Given the description of an element on the screen output the (x, y) to click on. 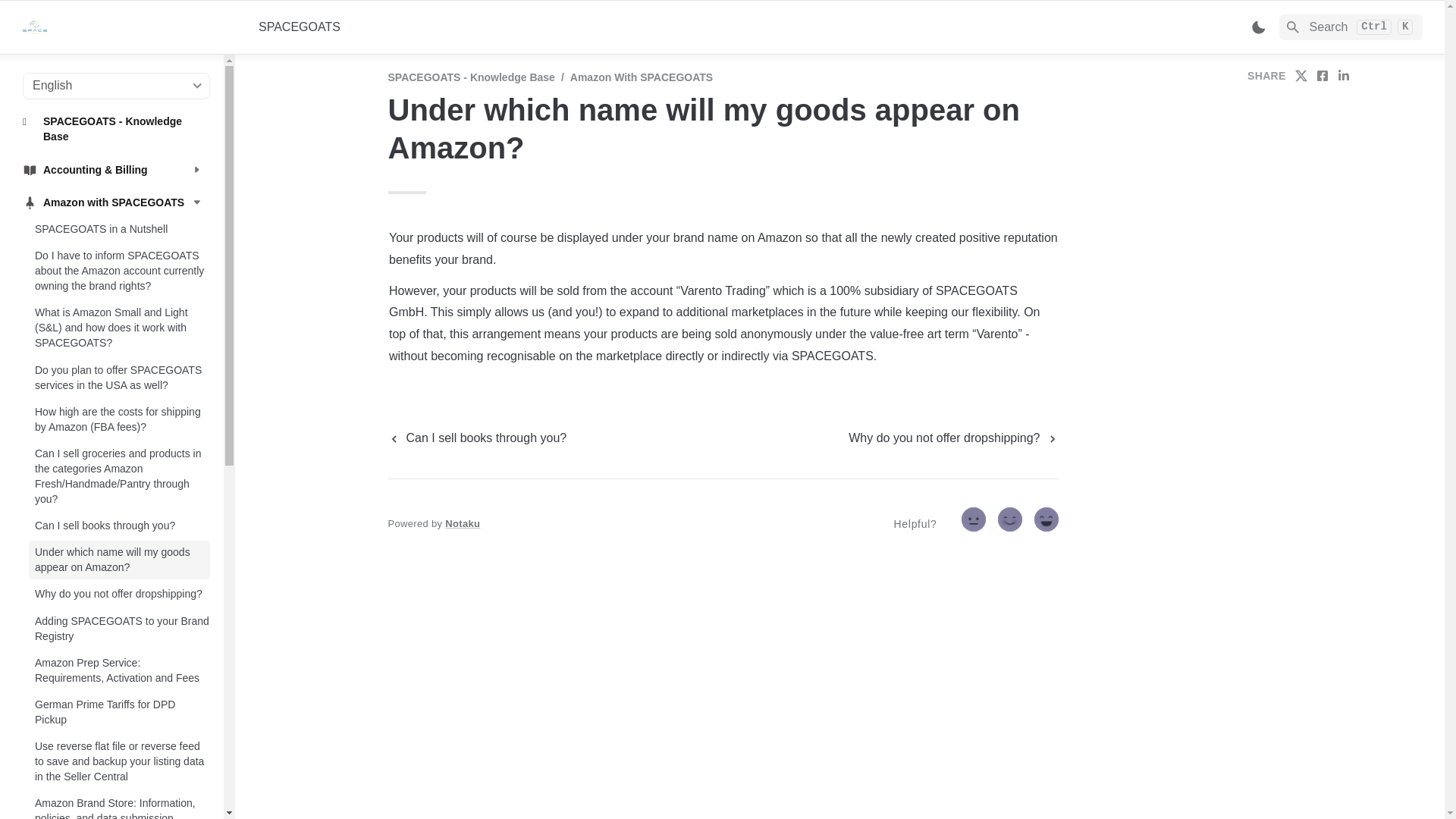
Do you plan to offer SPACEGOATS services in the USA as well? (119, 376)
Amazon with SPACEGOATS (112, 201)
Under which name will my goods appear on Amazon? (119, 559)
Why do you not offer dropshipping? (119, 594)
German Prime Tariffs for DPD Pickup (119, 711)
Adding SPACEGOATS to your Brand Registry (119, 628)
SPACEGOATS (299, 26)
SPACEGOATS in a Nutshell (119, 228)
0 (975, 521)
